Given the description of an element on the screen output the (x, y) to click on. 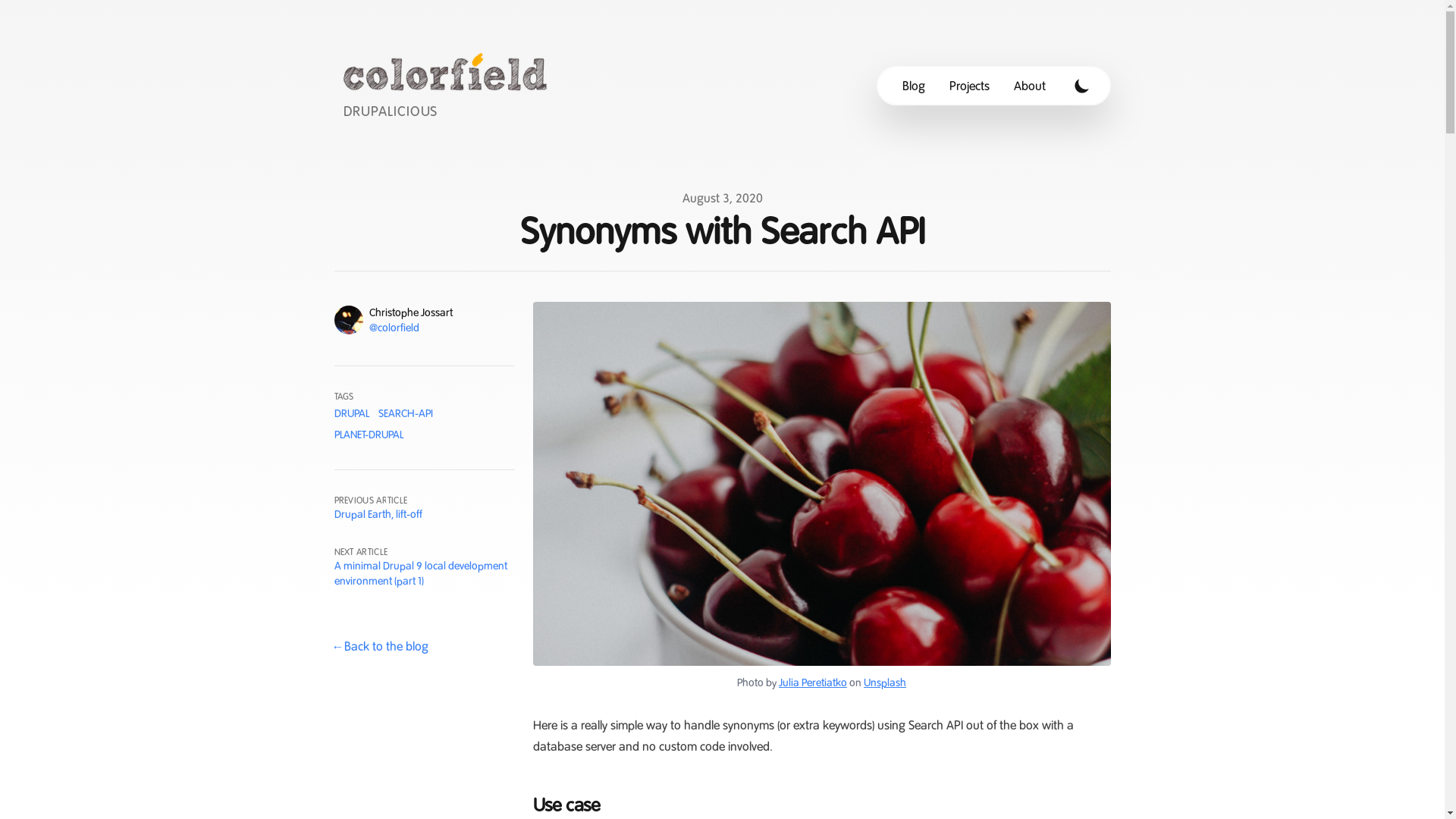
Projects Element type: text (969, 85)
PLANET-DRUPAL Element type: text (367, 434)
@colorfield Element type: text (393, 327)
Blog Element type: text (913, 85)
About Element type: text (1029, 85)
DRUPALICIOUS Element type: text (448, 85)
DRUPAL Element type: text (350, 412)
A minimal Drupal 9 local development environment (part 1) Element type: text (419, 572)
Julia Peretiatko Element type: text (812, 682)
SEARCH-API Element type: text (404, 412)
Unsplash Element type: text (884, 682)
